Given the description of an element on the screen output the (x, y) to click on. 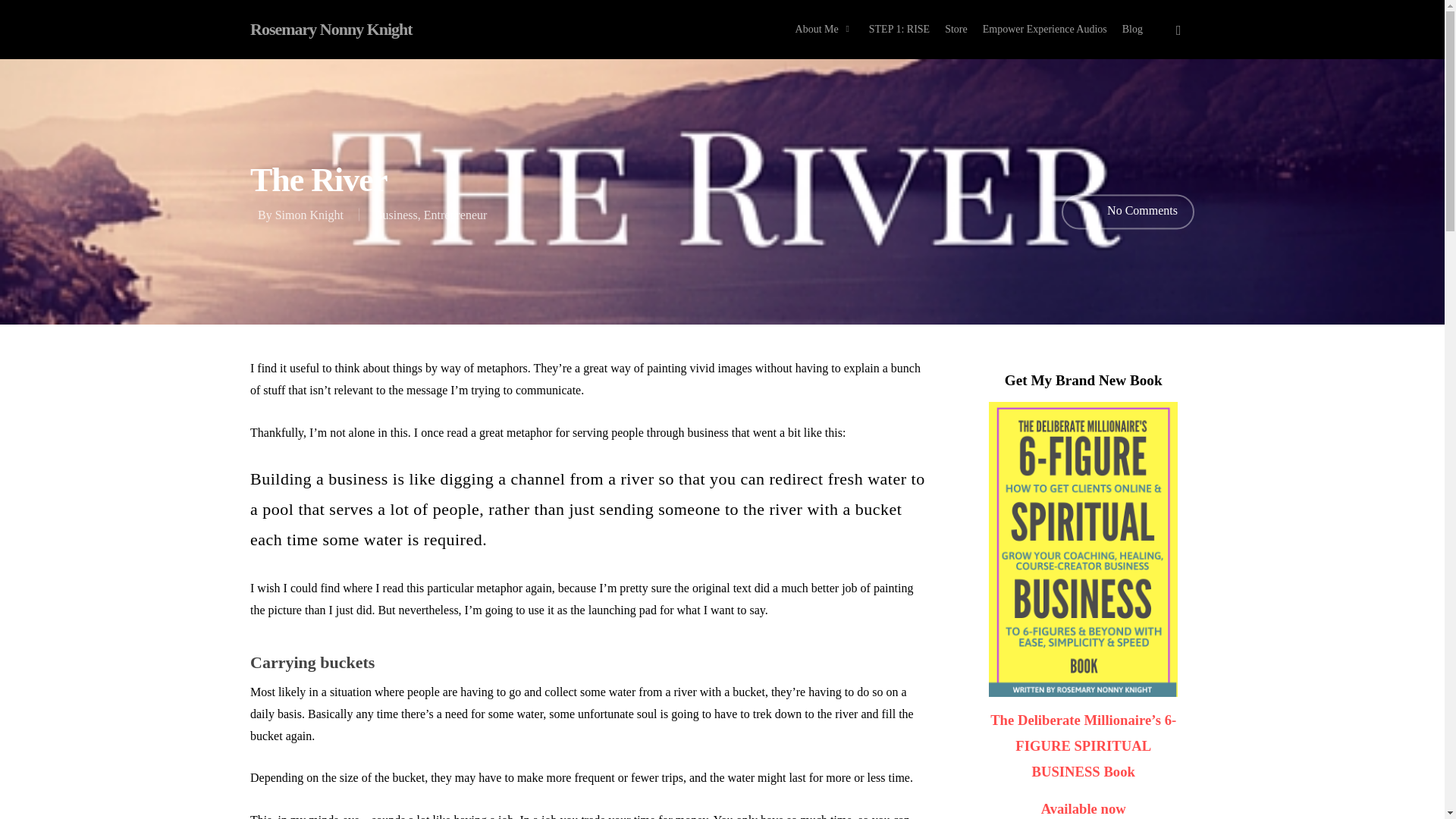
Blog (1132, 29)
Empower Experience Audios (1045, 29)
Simon Knight (309, 214)
STEP 1: RISE (899, 29)
About Me (824, 29)
Store (956, 29)
Entrepreneur (455, 214)
No Comments (1127, 212)
Posts by Simon Knight (309, 214)
Business (395, 214)
Rosemary Nonny Knight (331, 29)
